Given the description of an element on the screen output the (x, y) to click on. 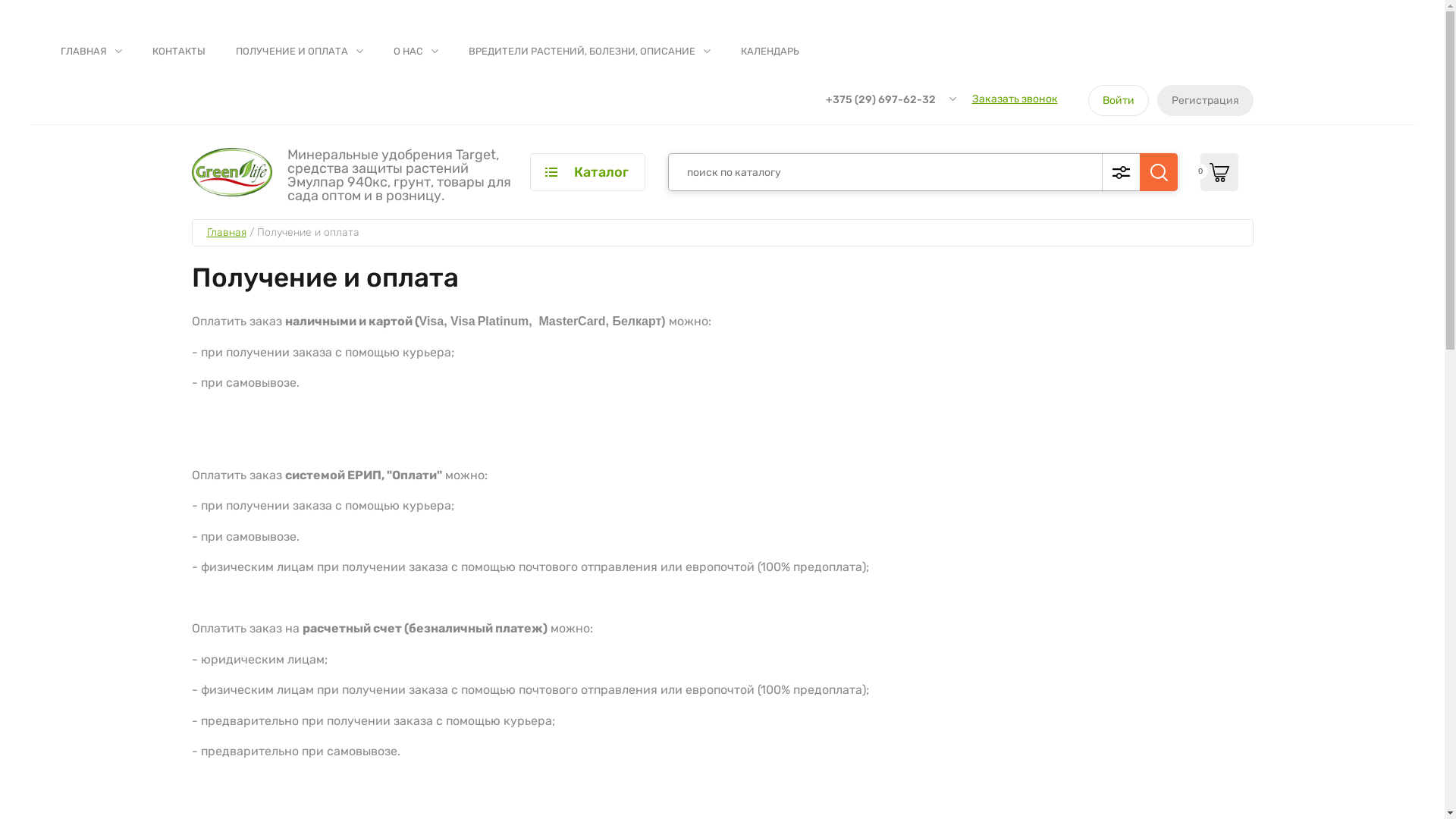
+375 (29) 697-62-32 Element type: text (880, 99)
  Element type: text (1157, 172)
0 Element type: text (1218, 172)
